Given the description of an element on the screen output the (x, y) to click on. 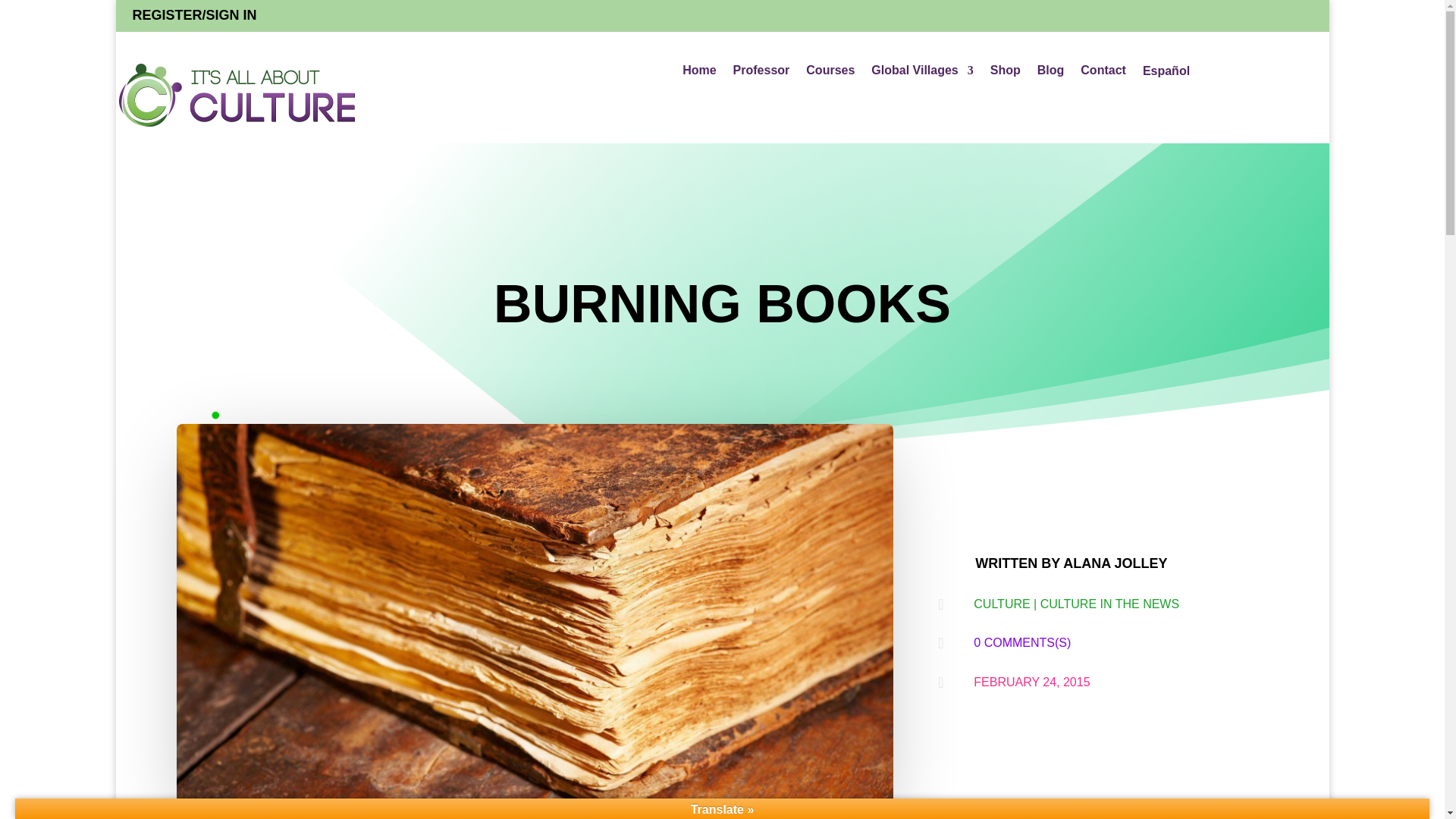
Shop (1005, 73)
Contact (1102, 73)
Home (699, 73)
Courses (830, 73)
Professor Profile (761, 73)
Spanish (1165, 73)
CULTURE IN THE NEWS (1110, 603)
Professor (761, 73)
Course Directory (830, 73)
iaac-logo-login (237, 95)
Global Villages (921, 73)
Blog (1050, 73)
SIGN IN (231, 14)
CULTURE (1001, 603)
